Given the description of an element on the screen output the (x, y) to click on. 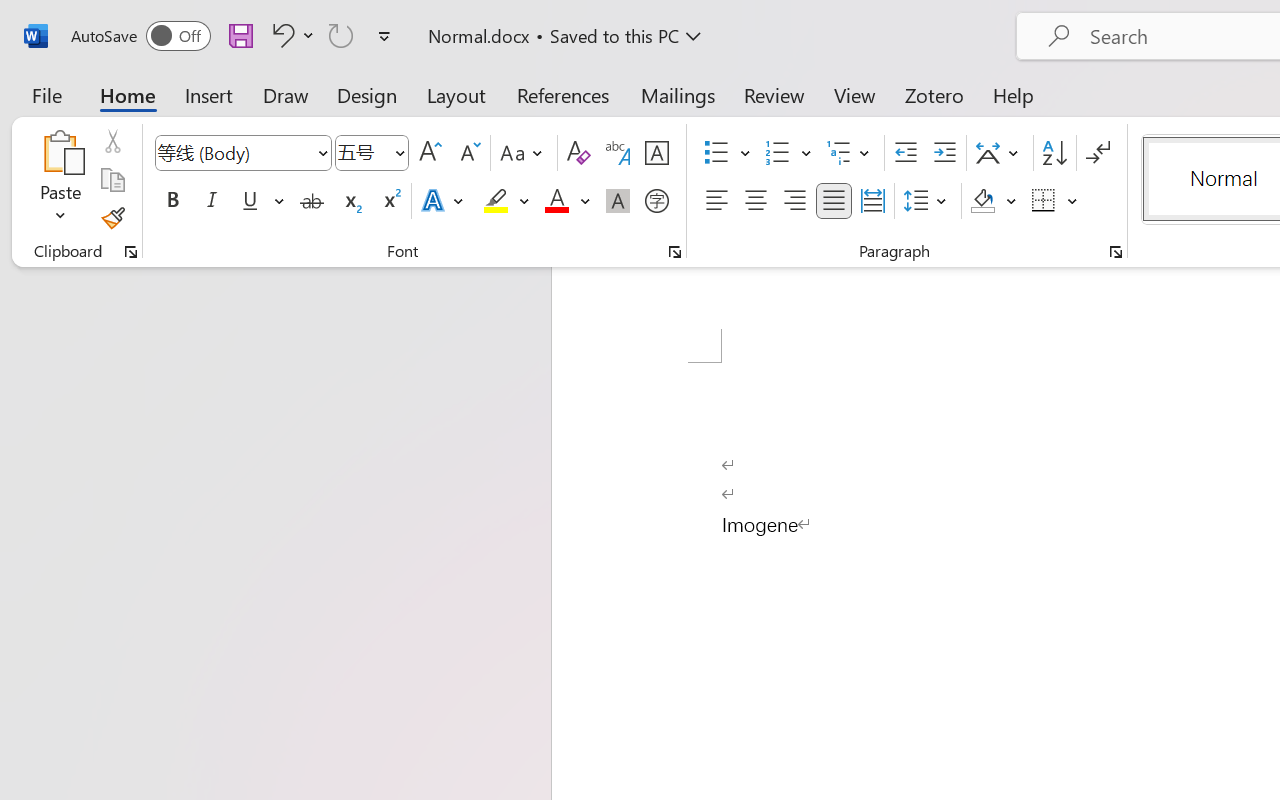
Open (399, 152)
Center (756, 201)
Phonetic Guide... (618, 153)
Asian Layout (1000, 153)
Change Case (524, 153)
Subscript (350, 201)
Sort... (1054, 153)
Multilevel List (850, 153)
Format Painter (112, 218)
